Given the description of an element on the screen output the (x, y) to click on. 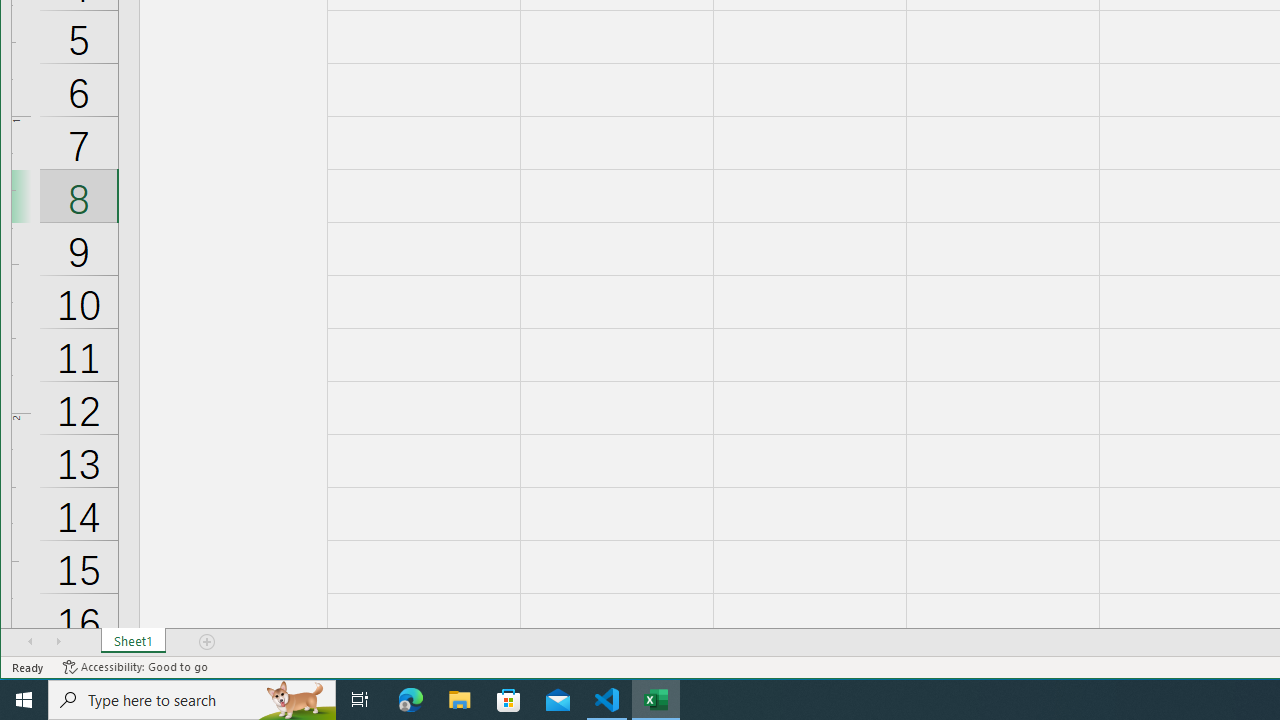
Excel - 1 running window (656, 699)
